Given the description of an element on the screen output the (x, y) to click on. 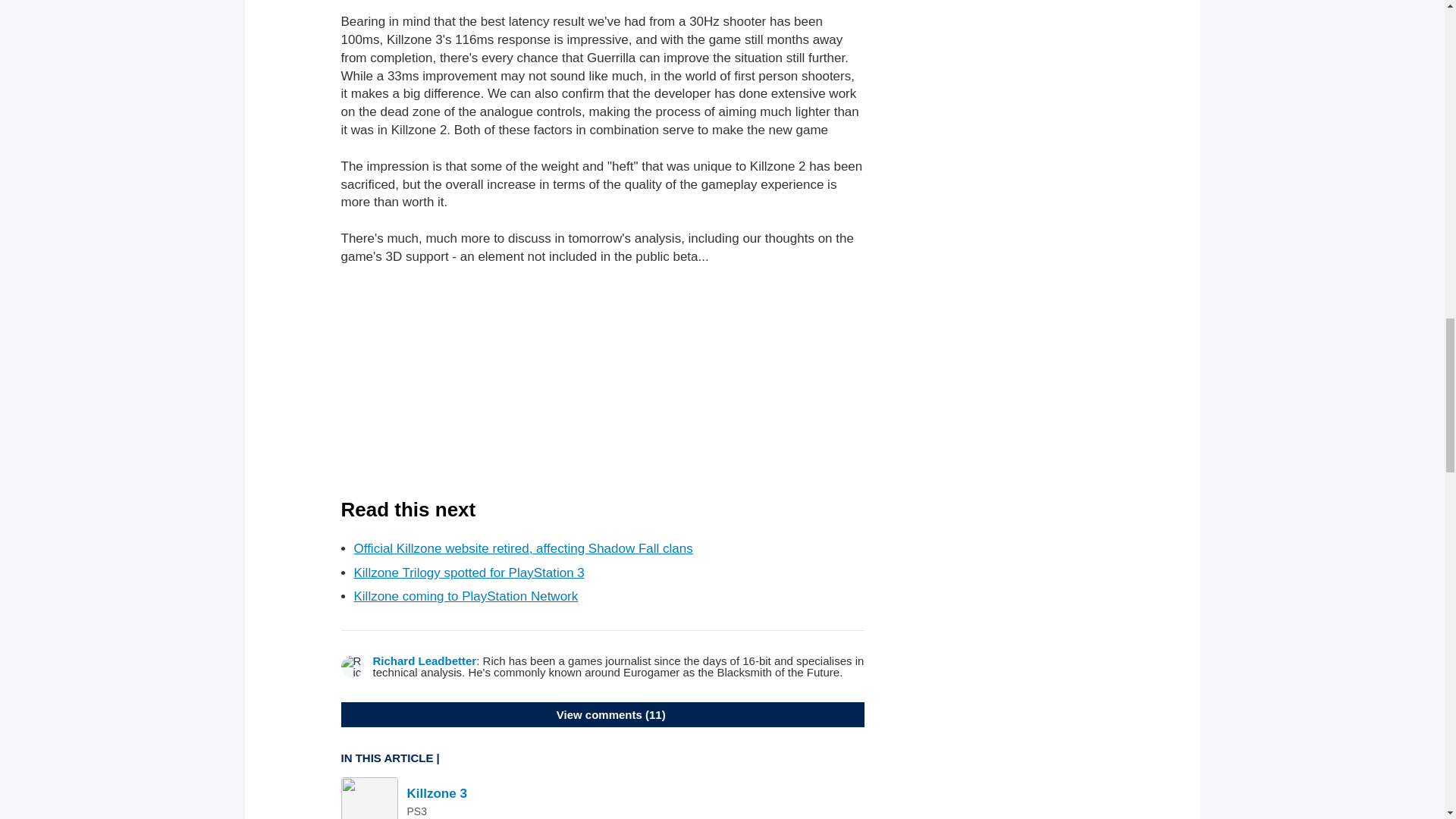
Killzone coming to PlayStation Network (465, 595)
Killzone Trilogy spotted for PlayStation 3 (468, 572)
Killzone 3 (435, 793)
Richard Leadbetter (424, 660)
